Given the description of an element on the screen output the (x, y) to click on. 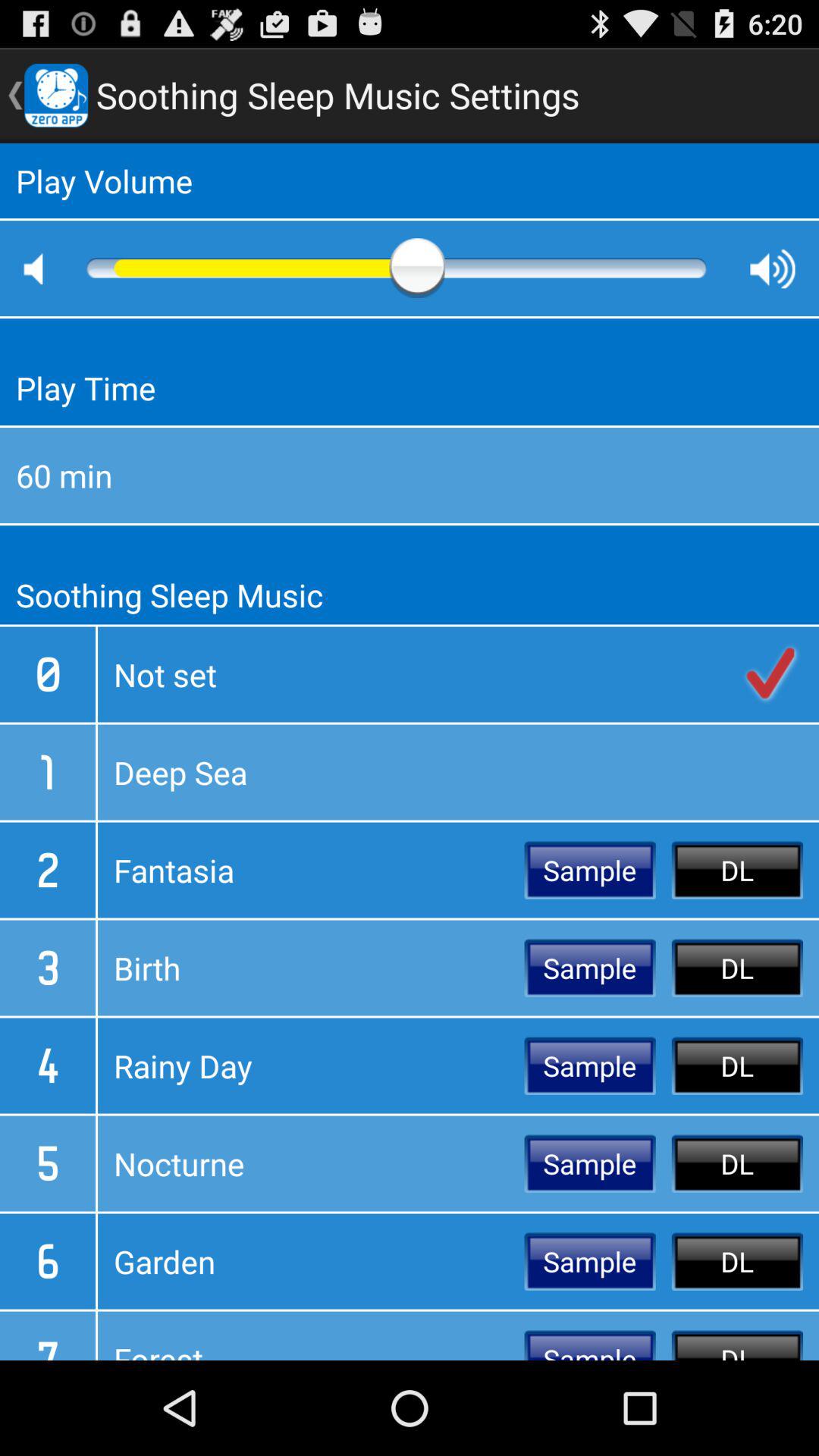
choose the icon next to the sample icon (310, 869)
